Given the description of an element on the screen output the (x, y) to click on. 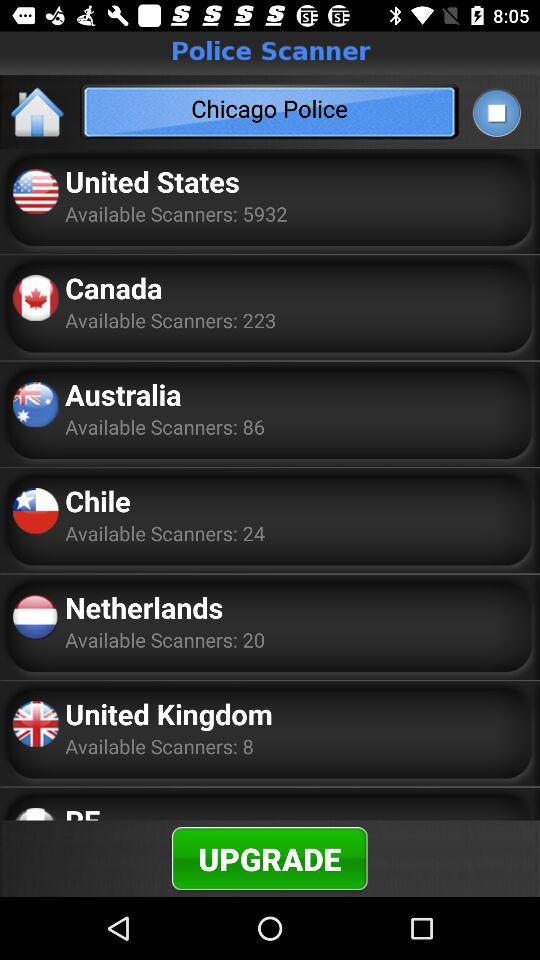
select the app above the available scanners: 20 icon (144, 607)
